Given the description of an element on the screen output the (x, y) to click on. 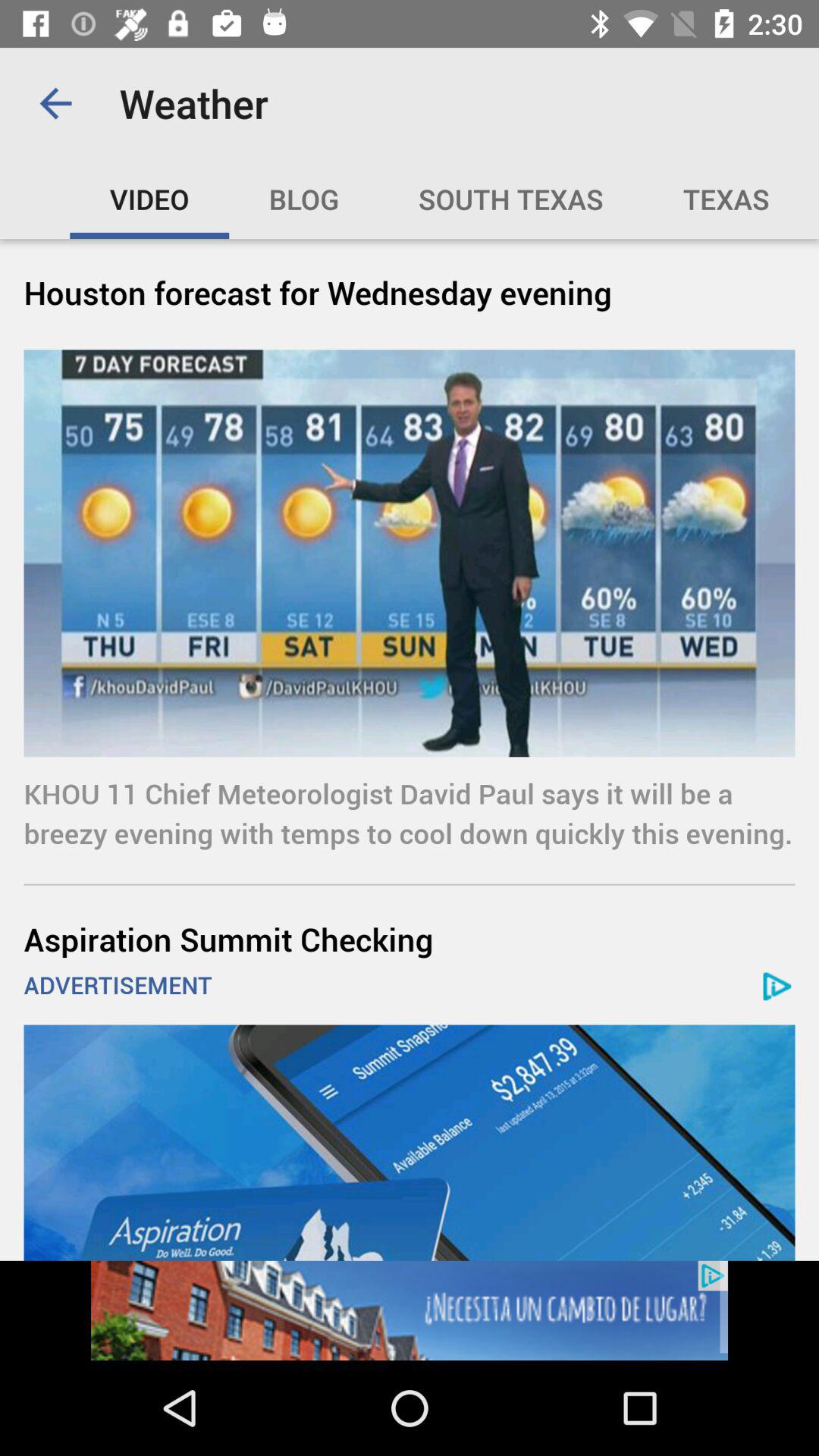
open advertisement (409, 1310)
